Given the description of an element on the screen output the (x, y) to click on. 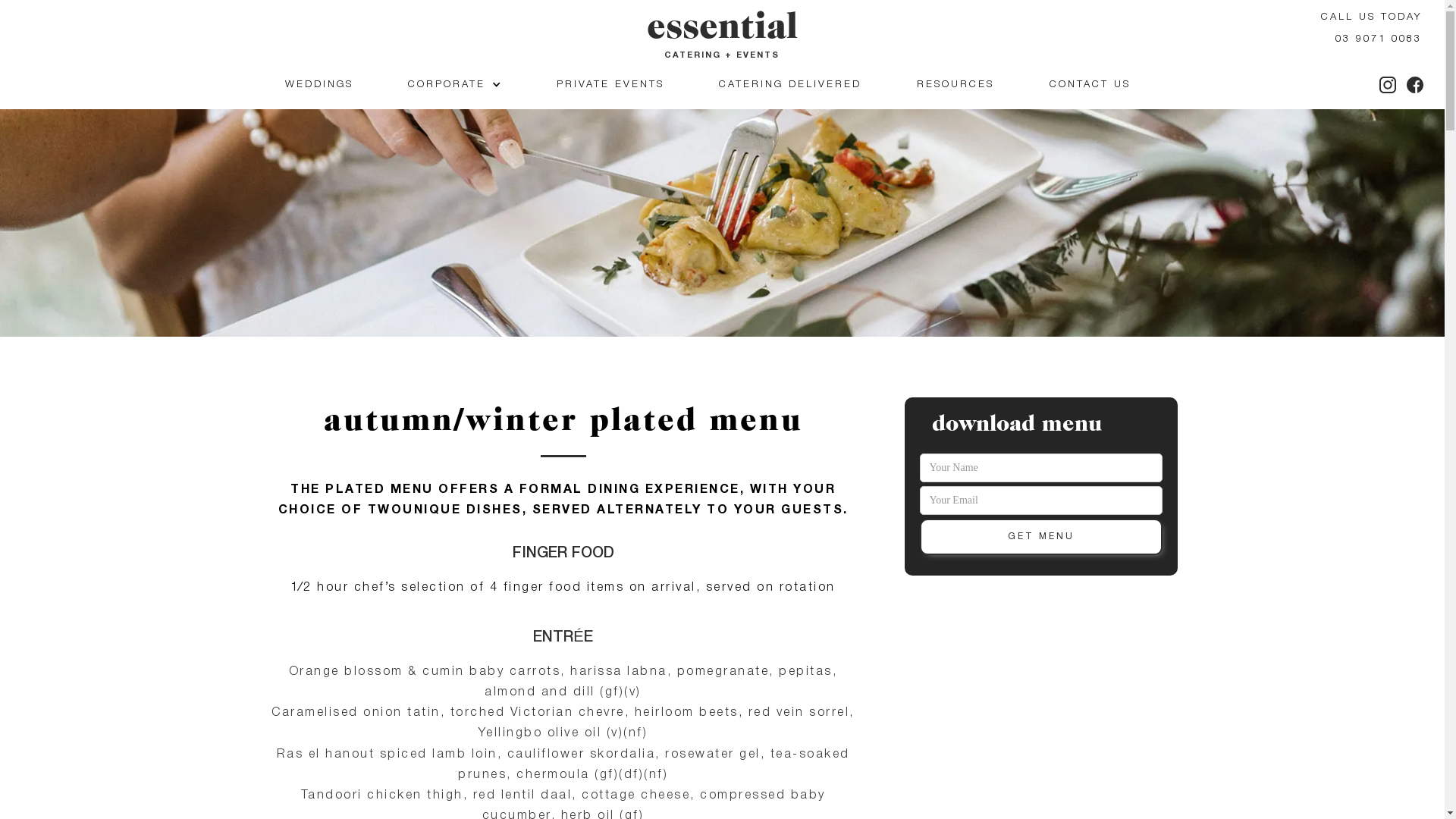
RESOURCES Element type: text (955, 84)
WEDDINGS Element type: text (318, 84)
PRIVATE EVENTS Element type: text (610, 84)
GET MENU Element type: text (1040, 536)
CONTACT US Element type: text (1089, 84)
essential
CATERING + EVENTS Element type: text (721, 39)
CATERING DELIVERED Element type: text (789, 84)
03 9071 0083 Element type: text (1378, 49)
